Given the description of an element on the screen output the (x, y) to click on. 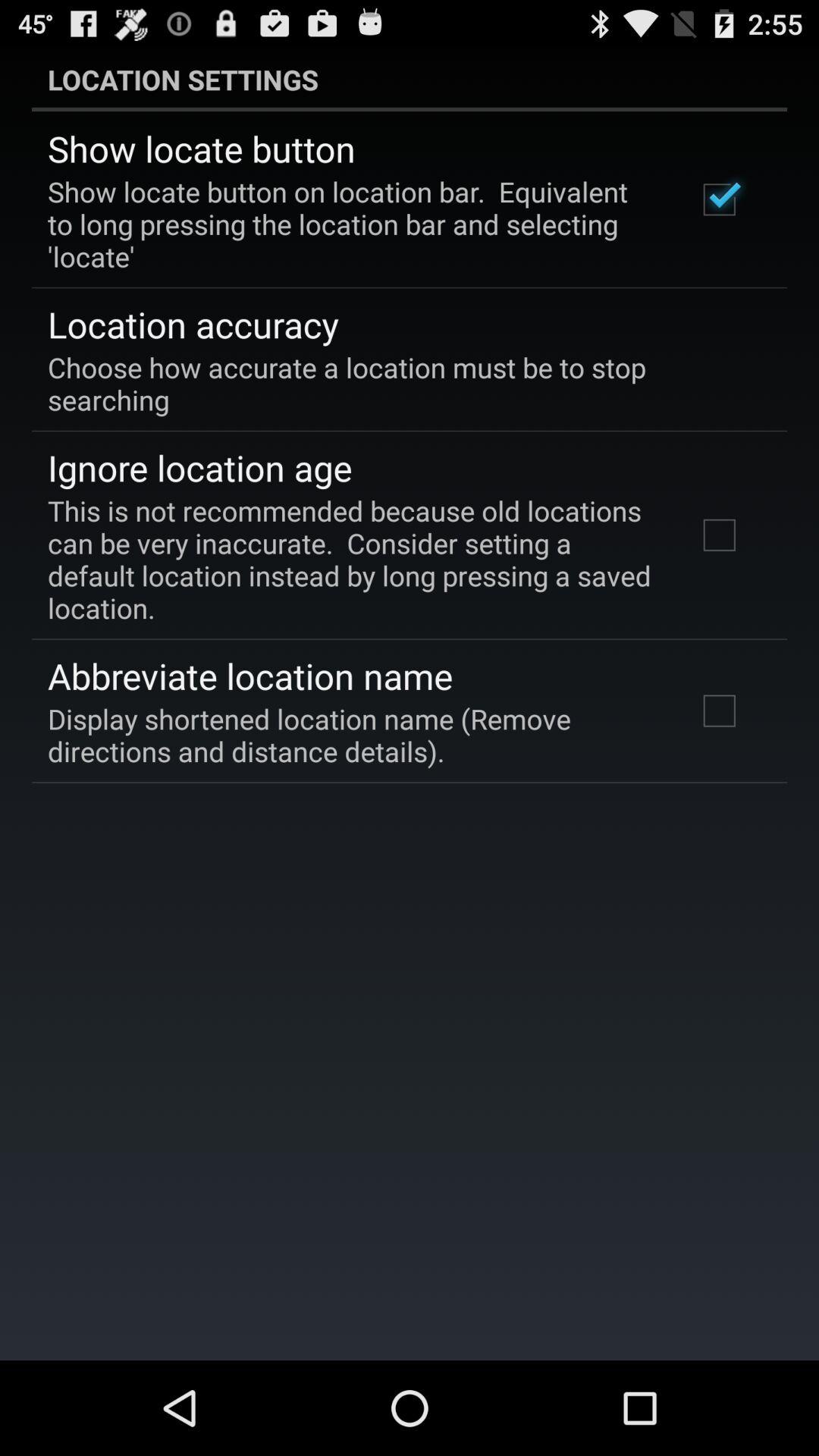
turn on the item below the ignore location age icon (351, 558)
